Given the description of an element on the screen output the (x, y) to click on. 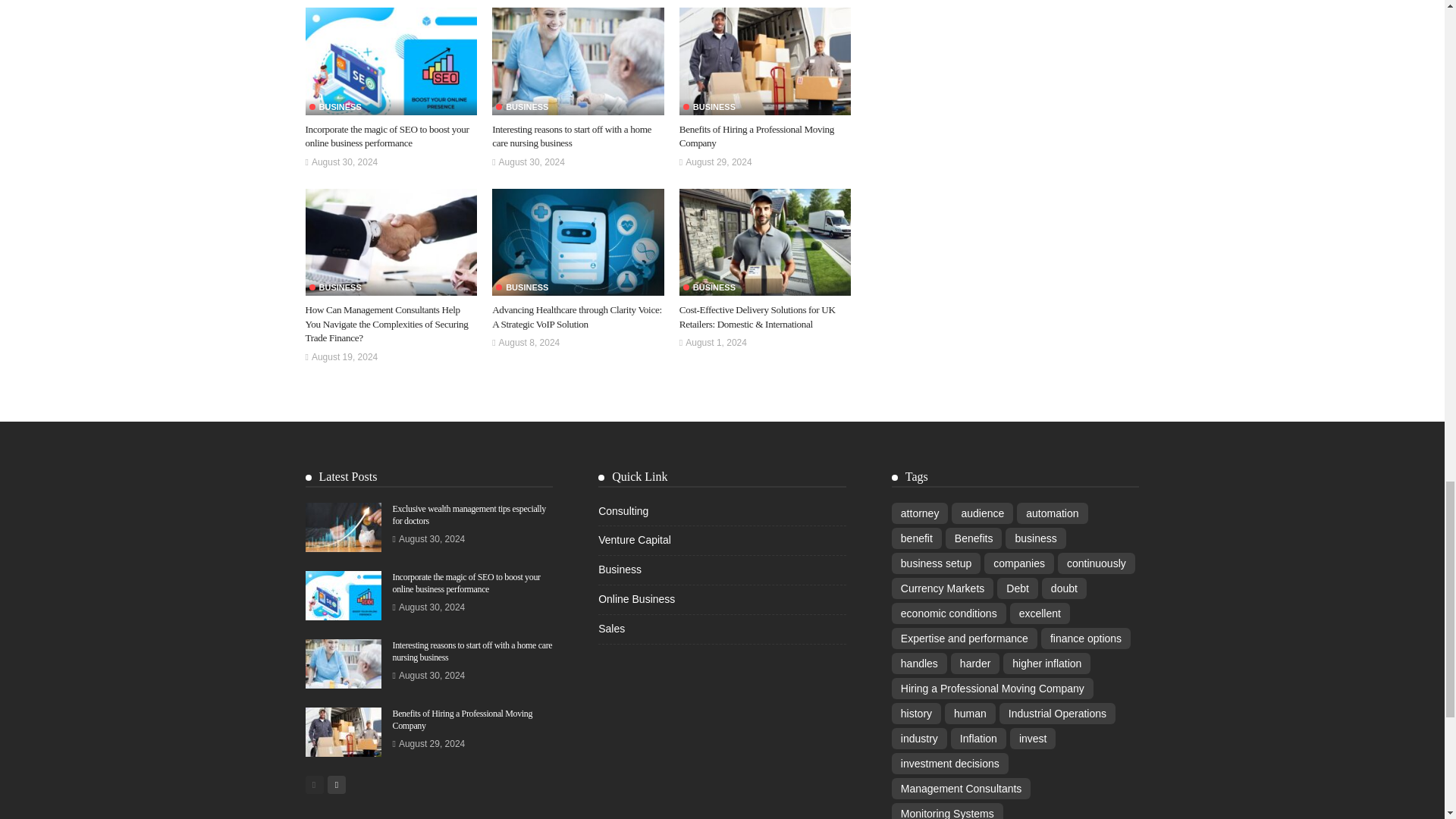
Business (522, 107)
Business (334, 107)
